Given the description of an element on the screen output the (x, y) to click on. 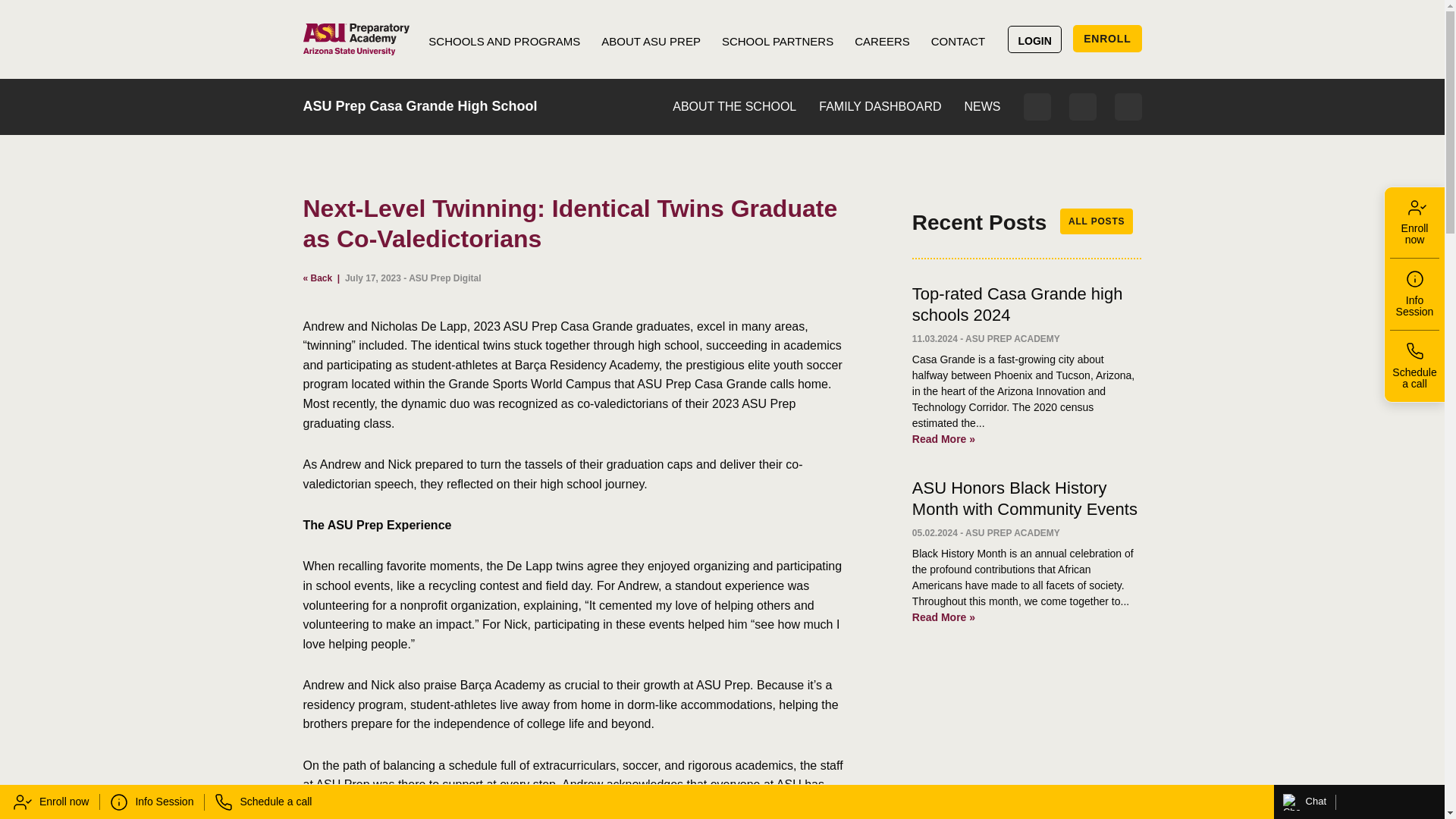
Search (1128, 106)
Info Session (151, 801)
Login (1037, 106)
Enroll now (48, 801)
Enroll now (1414, 222)
Schedule a call (263, 801)
Info Session (1414, 294)
Schedule a call (1414, 366)
Contact (1082, 106)
